Given the description of an element on the screen output the (x, y) to click on. 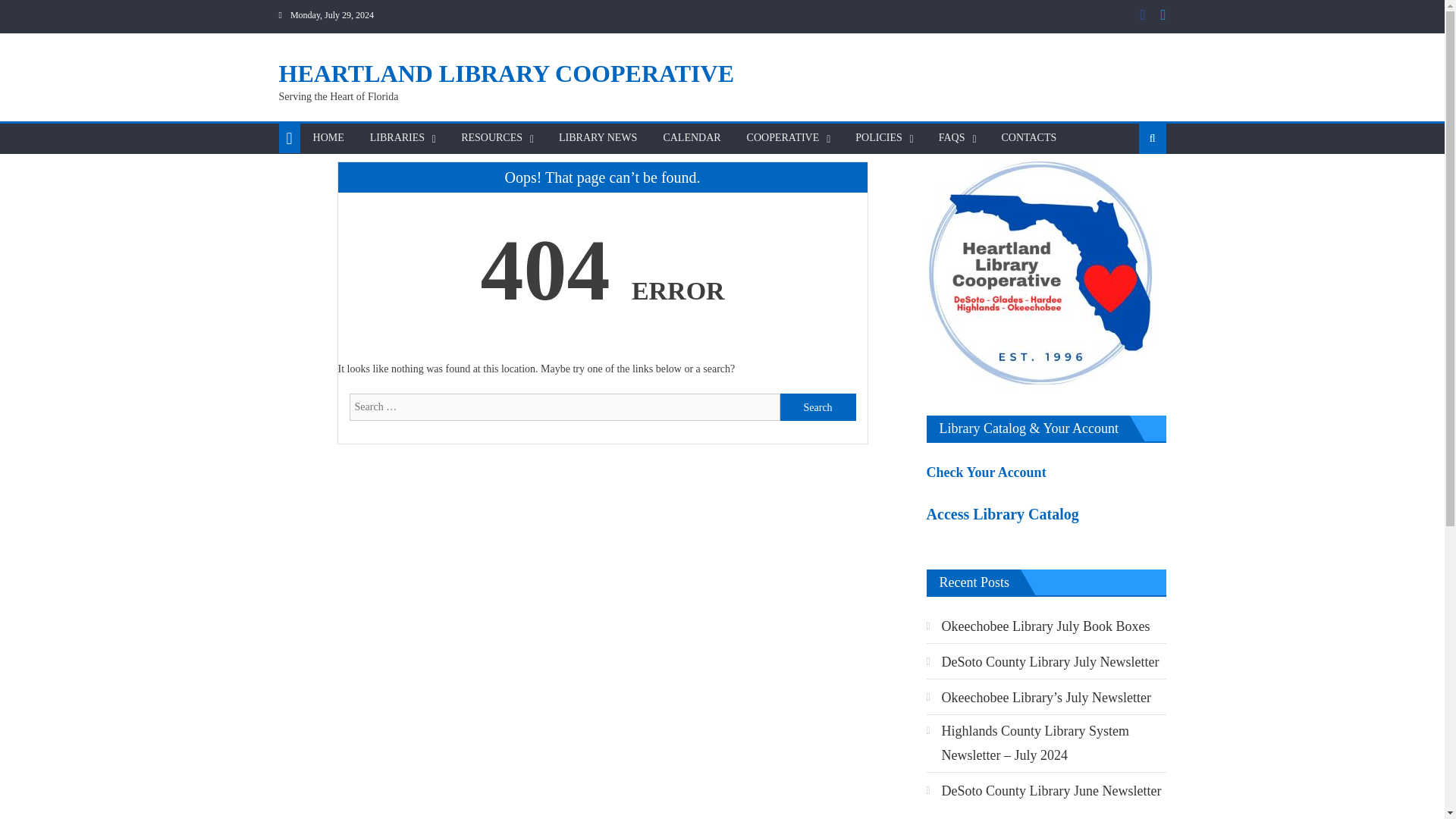
Search (818, 406)
CALENDAR (691, 137)
COOPERATIVE (783, 137)
HOME (328, 137)
Search (818, 406)
LIBRARIES (396, 137)
HEARTLAND LIBRARY COOPERATIVE (506, 72)
RESOURCES (491, 137)
LIBRARY NEWS (597, 137)
POLICIES (878, 137)
